Given the description of an element on the screen output the (x, y) to click on. 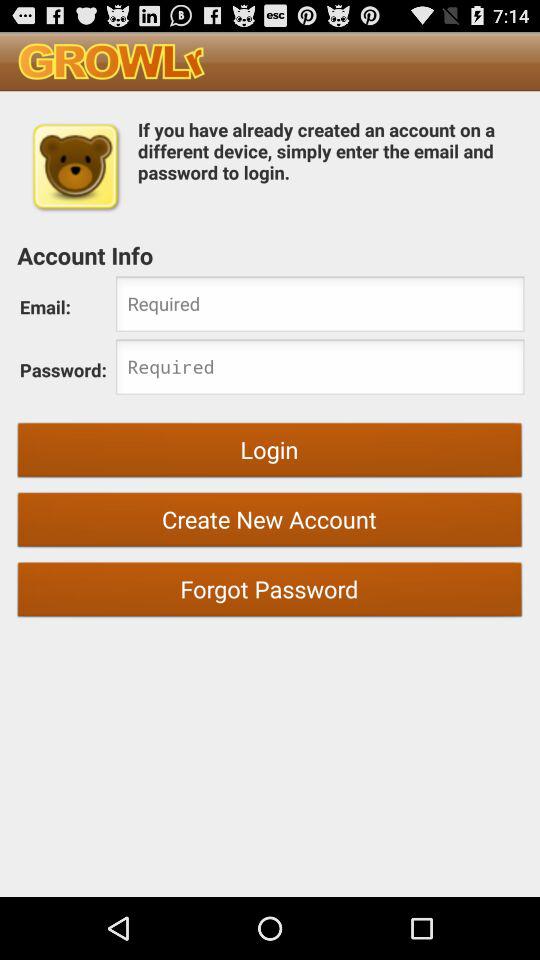
select the icon which is above the account info (74, 166)
click on the field shown right to password (320, 369)
click on the growlr in the top left corner (111, 61)
click on the text field which is next to the email (320, 305)
